Given the description of an element on the screen output the (x, y) to click on. 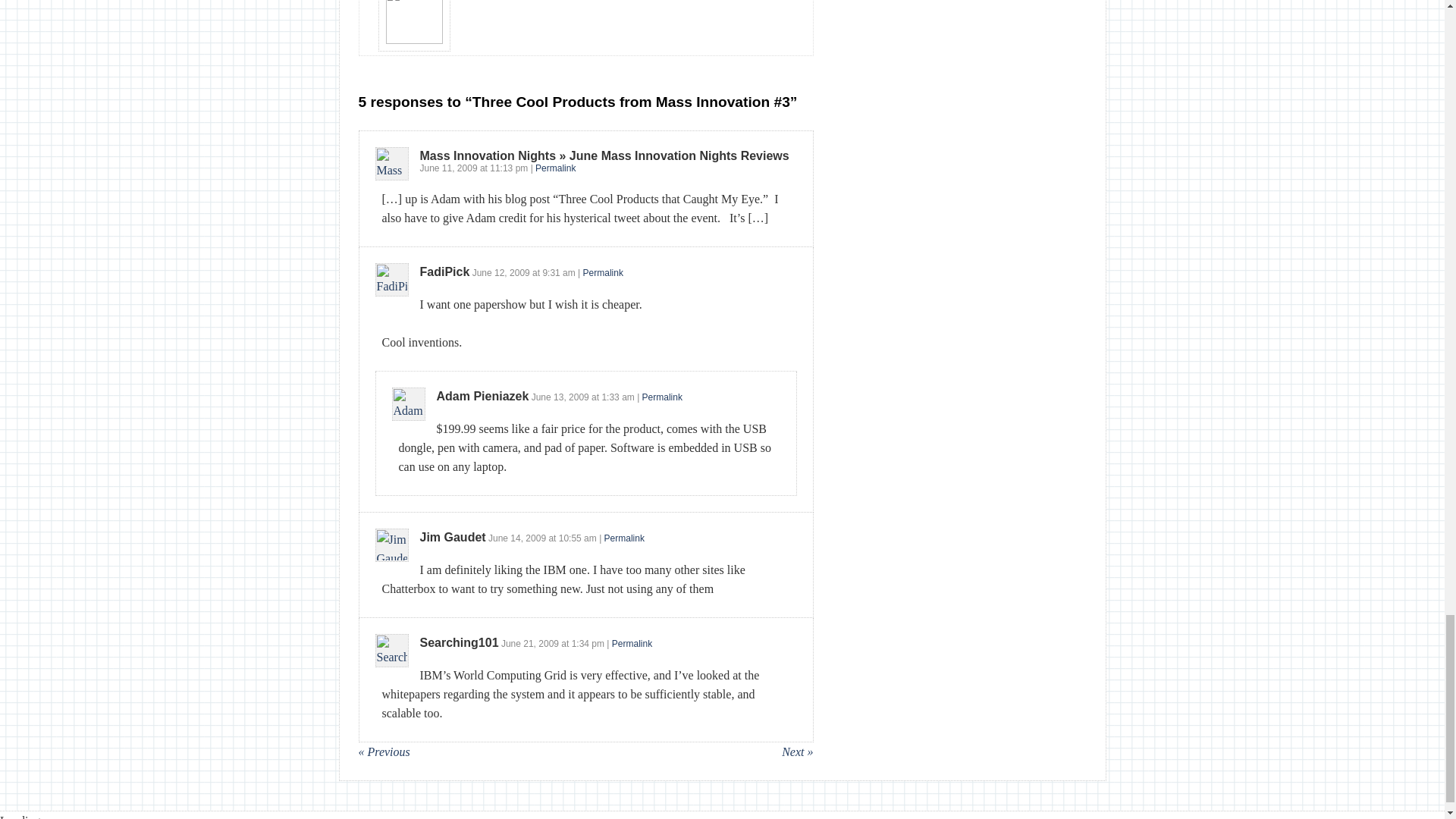
Thursday, June 11th, 2009, 11:13 pm (508, 167)
FadiPick (445, 271)
Adam Pieniazek (482, 395)
Permalink (624, 538)
Permalink (603, 272)
Jim Gaudet (453, 536)
Permalink (662, 397)
Permalink (555, 167)
Permalink to comment 30773 (555, 167)
Thursday, June 11th, 2009, 11:13 pm (448, 167)
